Given the description of an element on the screen output the (x, y) to click on. 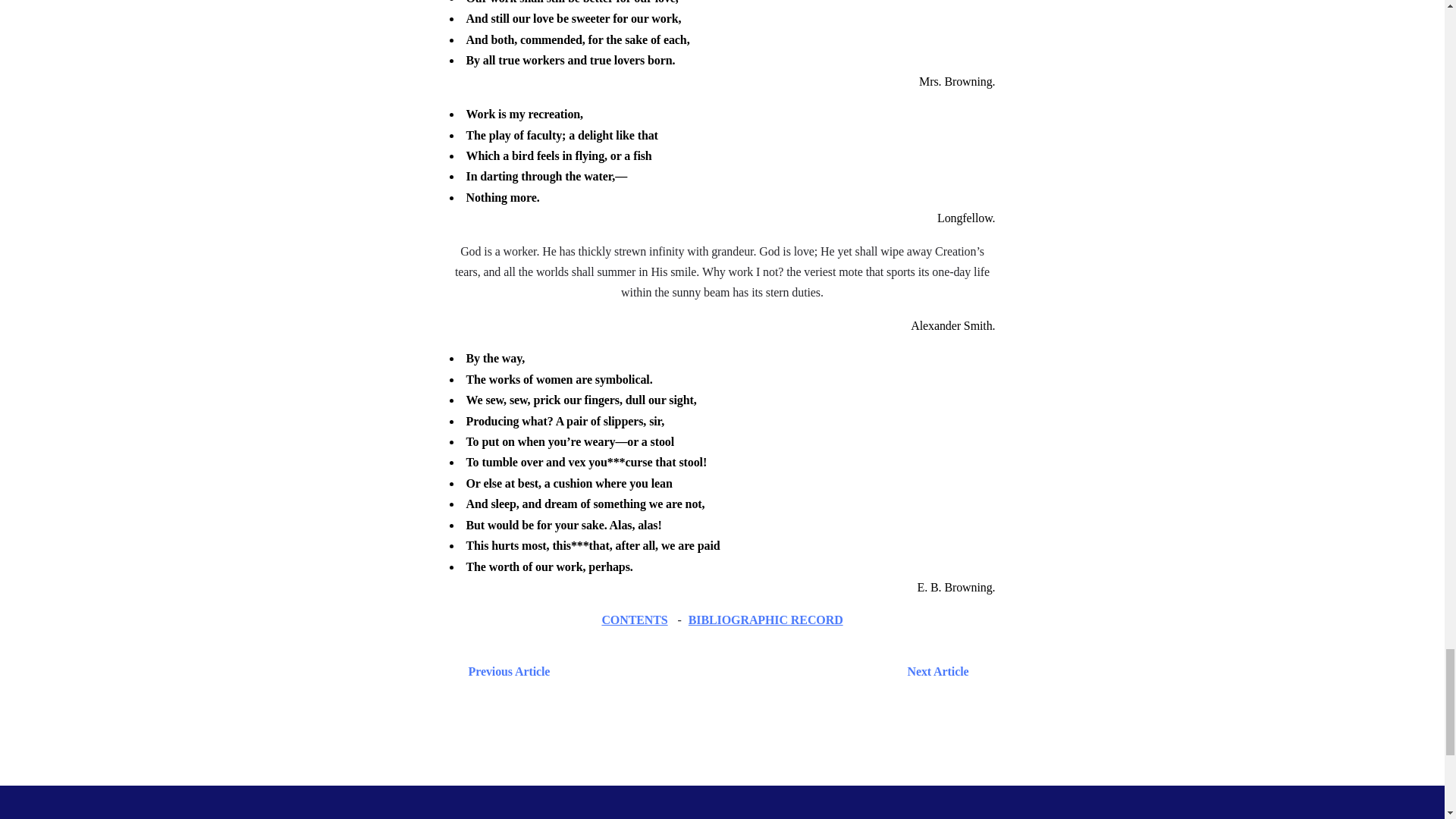
BIBLIOGRAPHIC RECORD (765, 619)
CONTENTS (633, 619)
Previous Article (505, 670)
Next Article (766, 670)
